Given the description of an element on the screen output the (x, y) to click on. 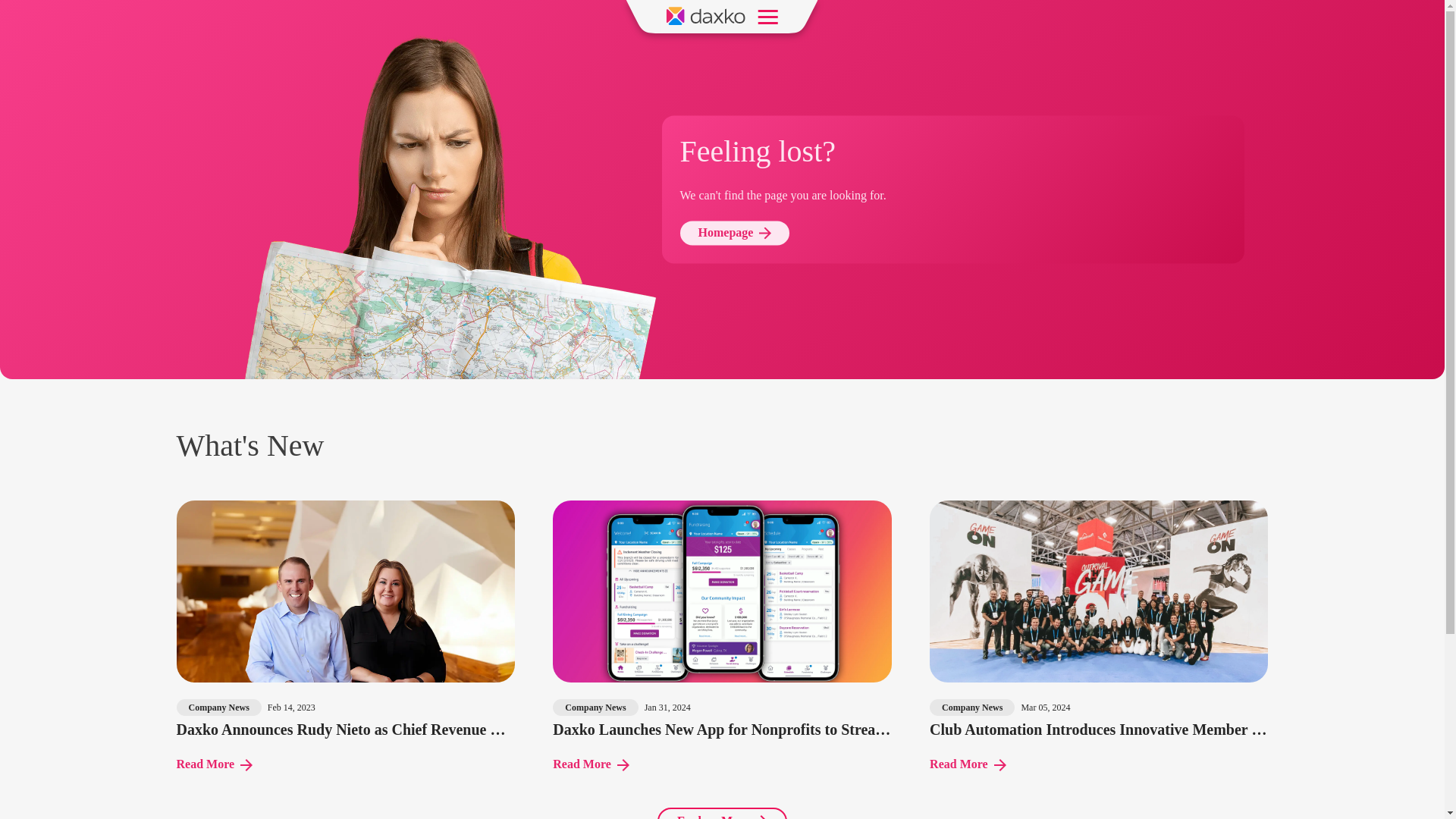
Company News (218, 707)
Explore More (722, 813)
Company News (972, 707)
Company News (595, 707)
Menu (767, 15)
Read More (968, 763)
Read More (213, 763)
Read More (590, 763)
Homepage (734, 233)
